Given the description of an element on the screen output the (x, y) to click on. 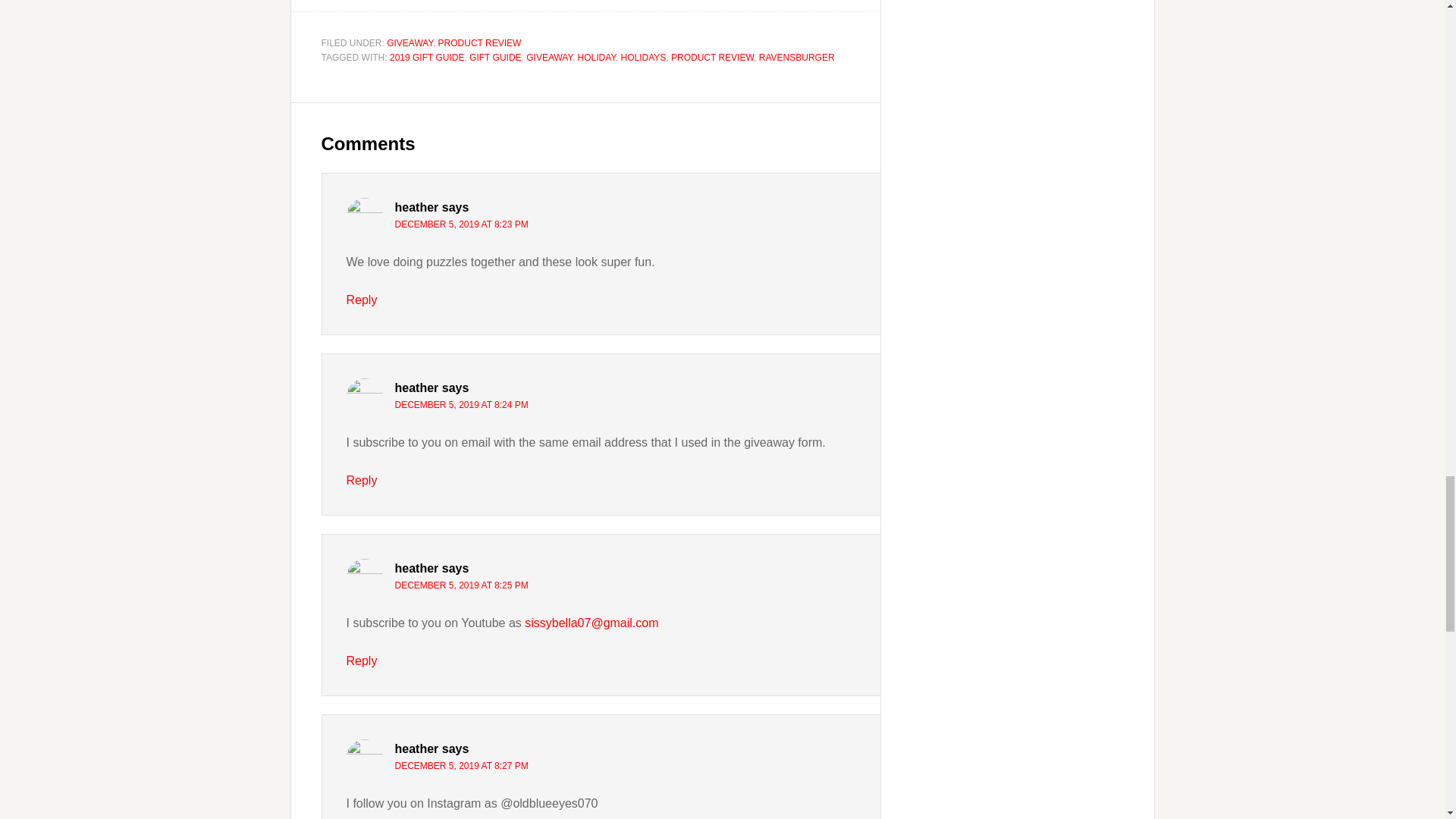
RAVENSBURGER (796, 57)
PRODUCT REVIEW (712, 57)
DECEMBER 5, 2019 AT 8:27 PM (460, 765)
PRODUCT REVIEW (479, 42)
DECEMBER 5, 2019 AT 8:23 PM (460, 224)
Reply (361, 660)
2019 GIFT GUIDE (427, 57)
DECEMBER 5, 2019 AT 8:24 PM (460, 404)
DECEMBER 5, 2019 AT 8:25 PM (460, 584)
GIVEAWAY (548, 57)
